Given the description of an element on the screen output the (x, y) to click on. 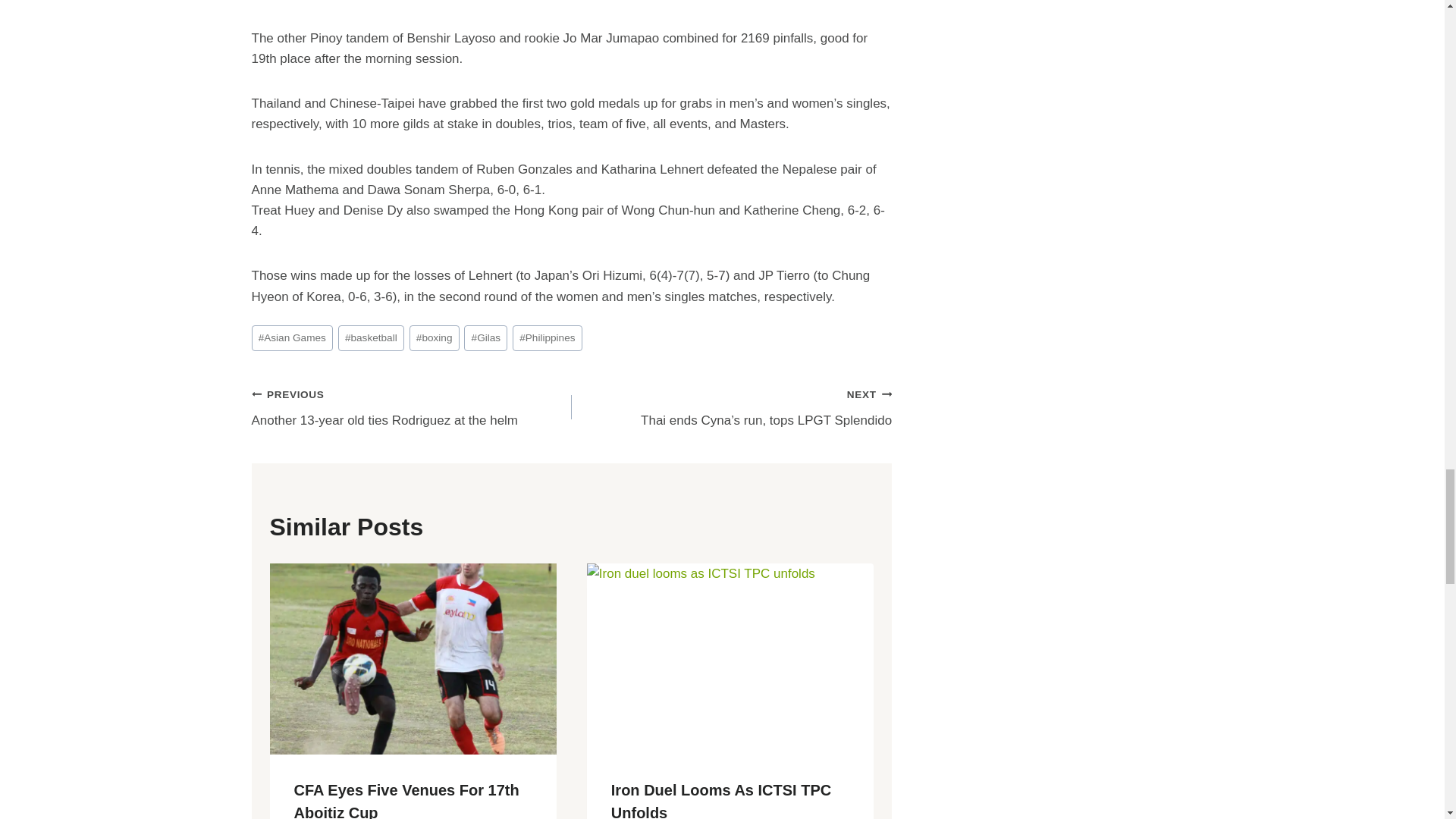
boxing (434, 337)
Gilas (485, 337)
CFA Eyes Five Venues For 17th Aboitiz Cup (406, 800)
Iron Duel Looms As ICTSI TPC Unfolds (721, 800)
Asian Games (411, 407)
basketball (292, 337)
Philippines (370, 337)
